Given the description of an element on the screen output the (x, y) to click on. 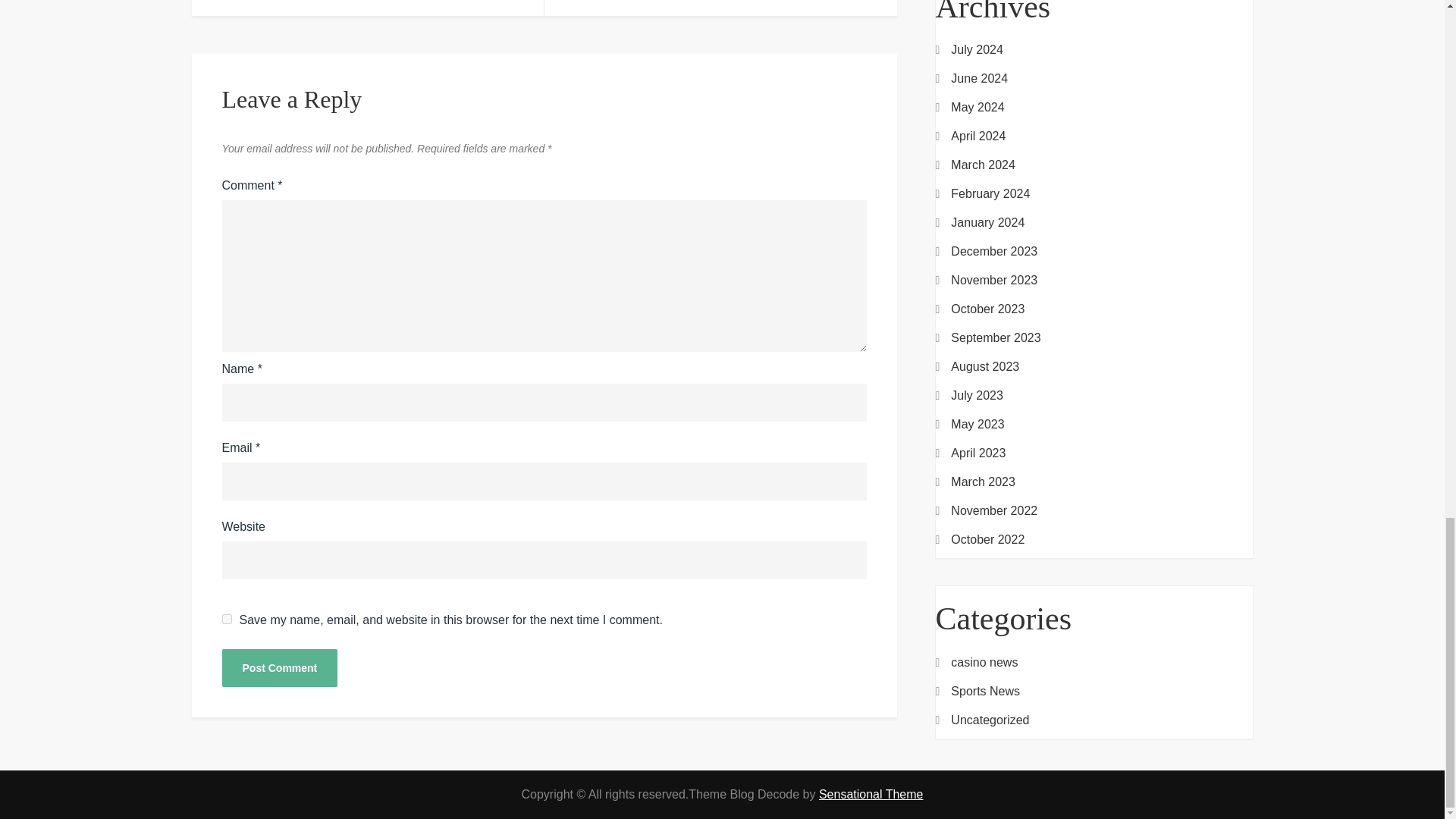
June 2024 (978, 78)
December 2023 (993, 251)
January 2024 (987, 222)
May 2024 (977, 107)
Post Comment (279, 668)
February 2024 (989, 193)
October 2023 (987, 309)
November 2023 (993, 280)
Post Comment (279, 668)
April 2024 (978, 136)
yes (226, 619)
March 2024 (982, 165)
July 2024 (976, 49)
